Given the description of an element on the screen output the (x, y) to click on. 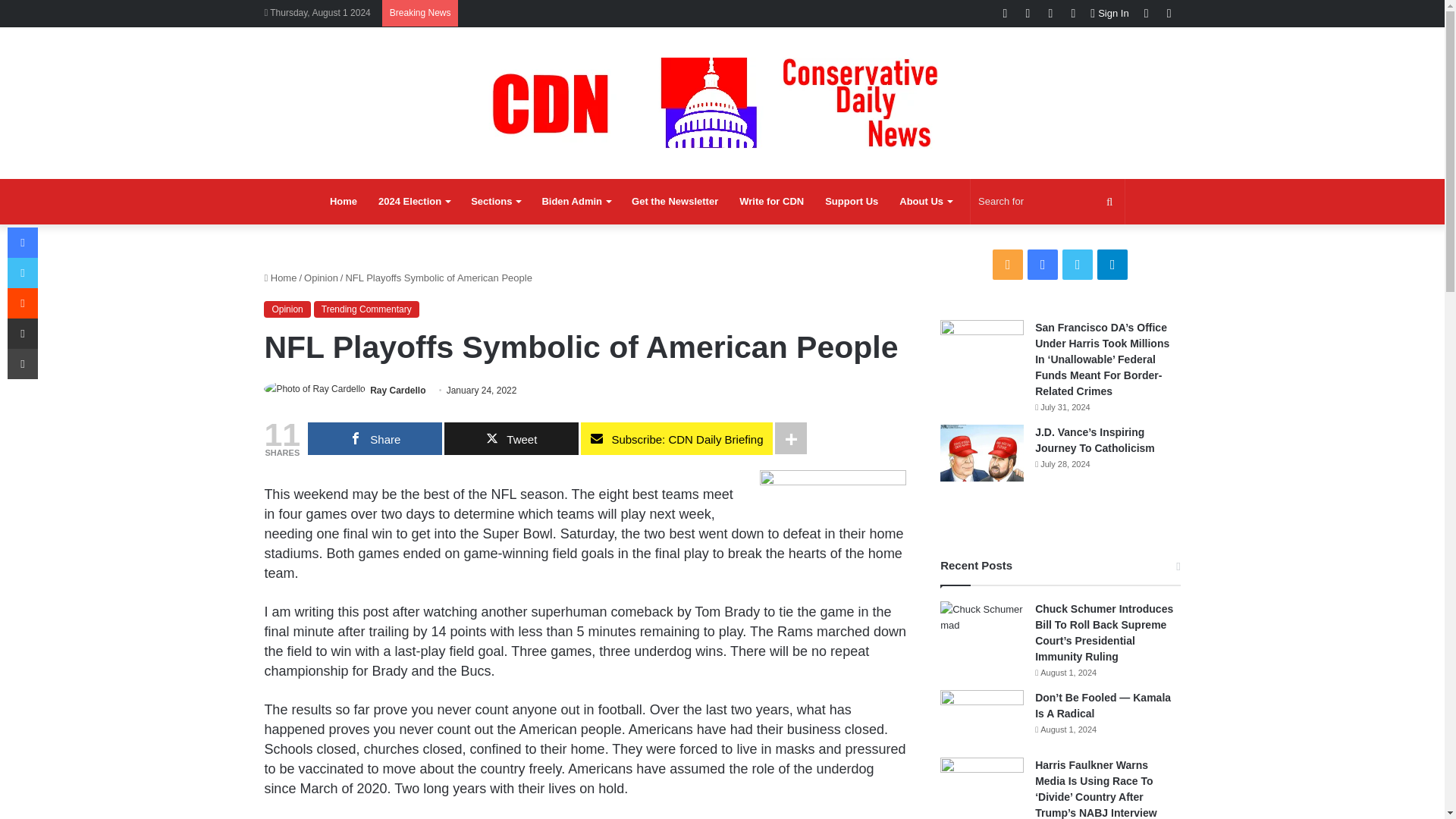
2024 Election (414, 201)
Home (343, 201)
Conservative Daily News (721, 102)
Get the Newsletter (675, 201)
Sections (495, 201)
Support CDN With a Small Donation (850, 201)
Become a CDN Contributor (771, 201)
Ray Cardello (397, 389)
Search for (1047, 201)
Biden Admin (576, 201)
